Given the description of an element on the screen output the (x, y) to click on. 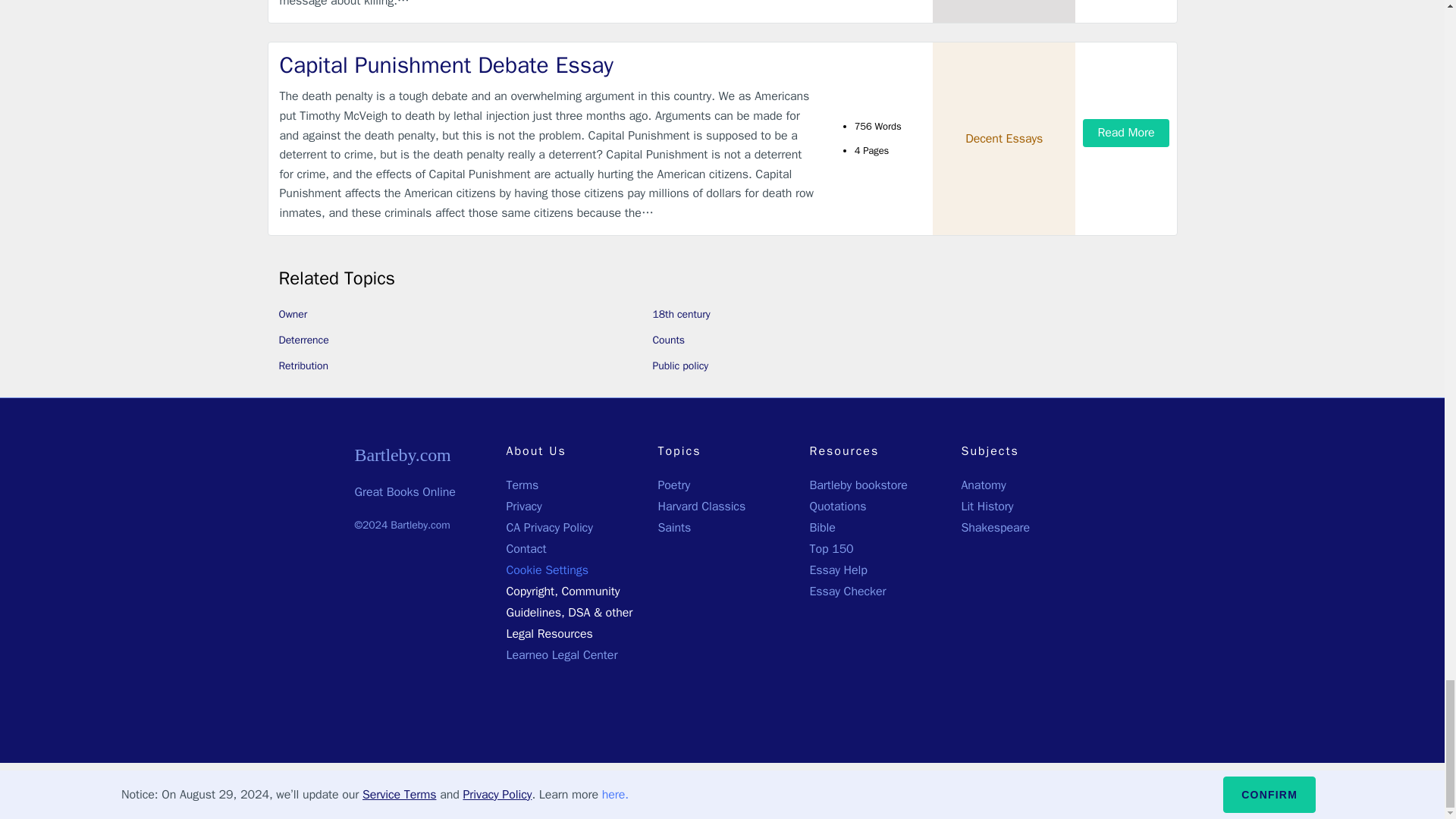
Owner (293, 314)
Counts (668, 339)
Retribution (304, 365)
Public policy (679, 365)
18th century (681, 314)
Deterrence (304, 339)
